Given the description of an element on the screen output the (x, y) to click on. 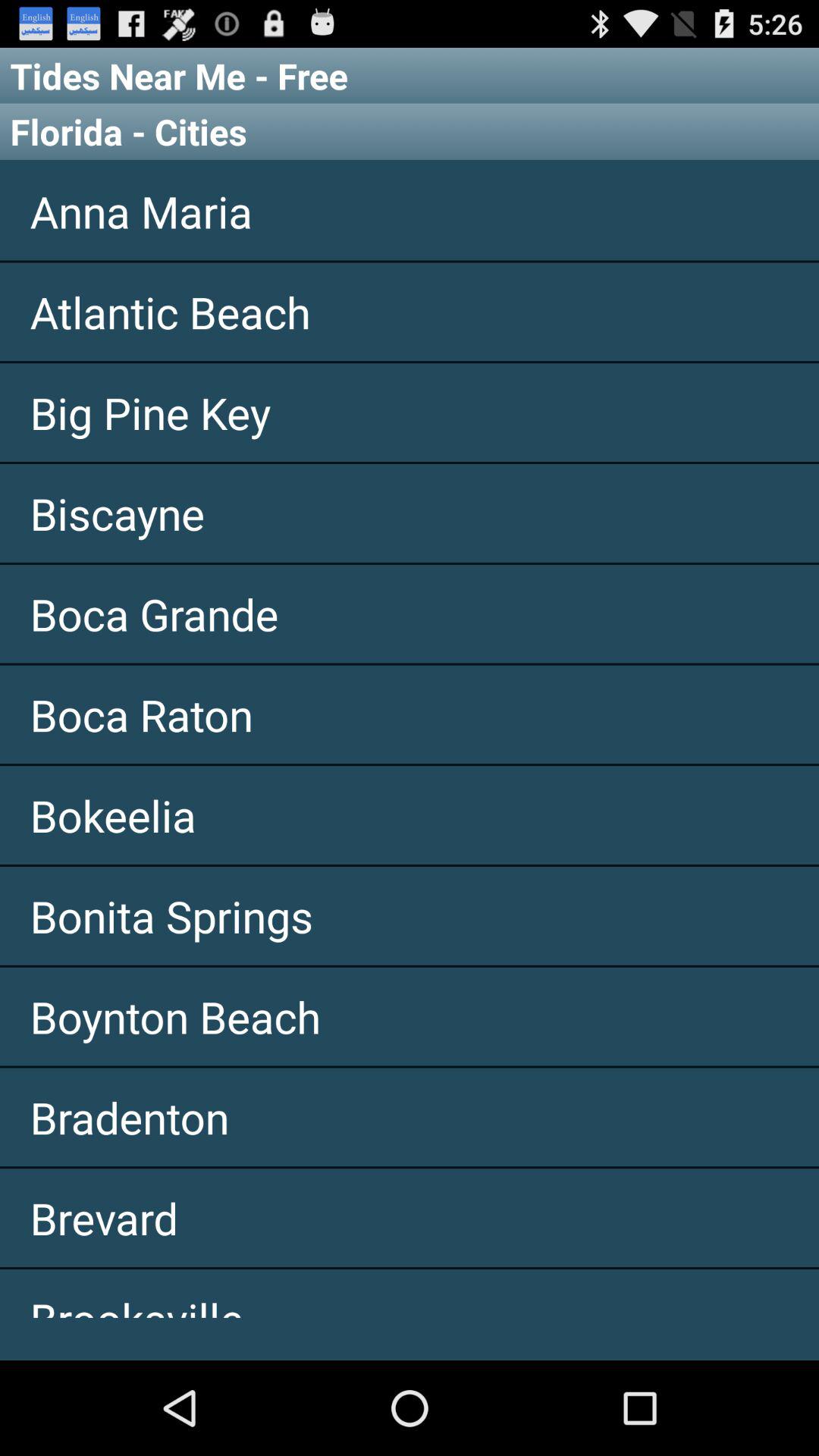
click the icon below brevard (409, 1314)
